Given the description of an element on the screen output the (x, y) to click on. 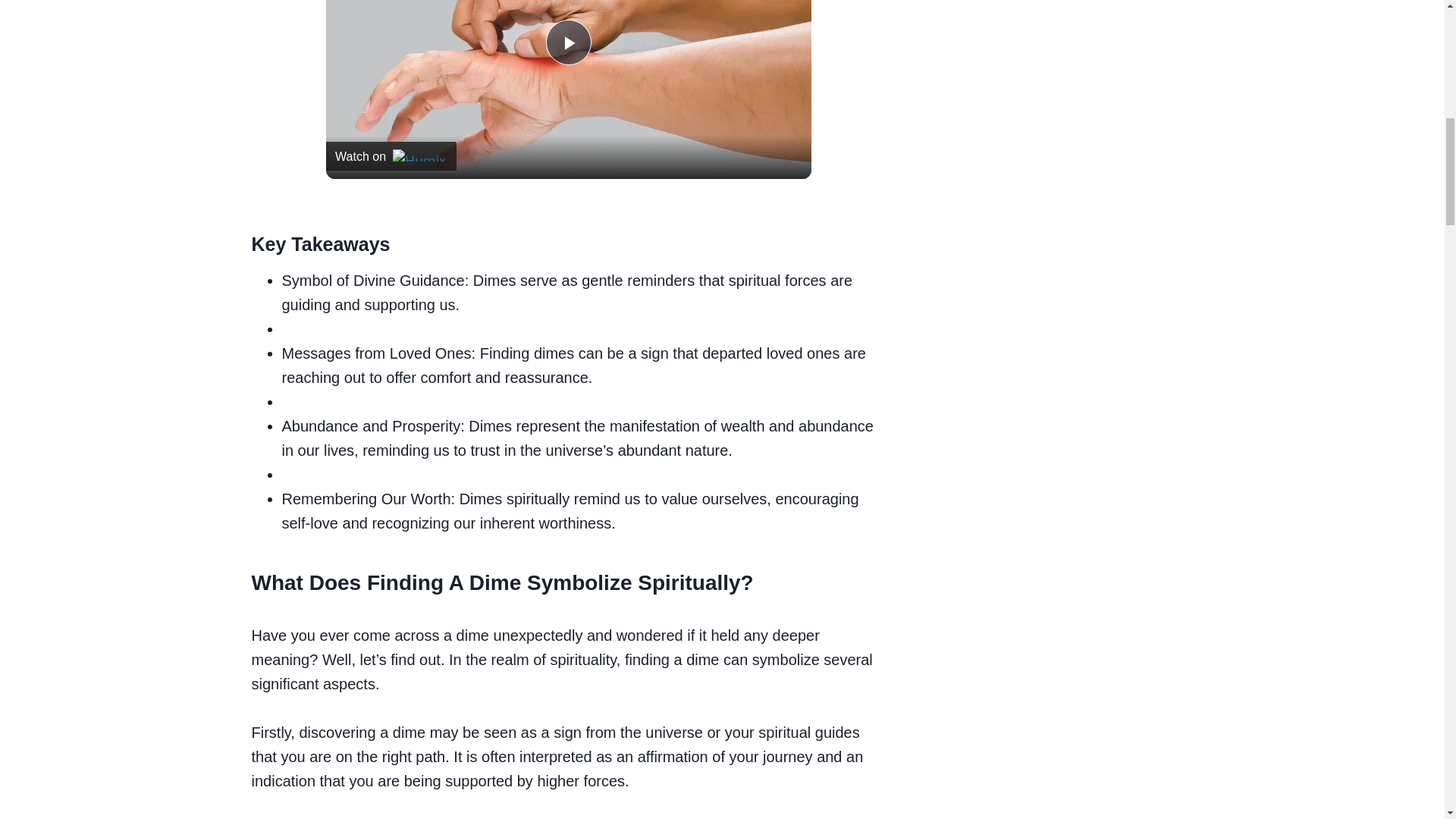
Play Video (568, 42)
Play Video (568, 42)
Watch on (391, 155)
